Given the description of an element on the screen output the (x, y) to click on. 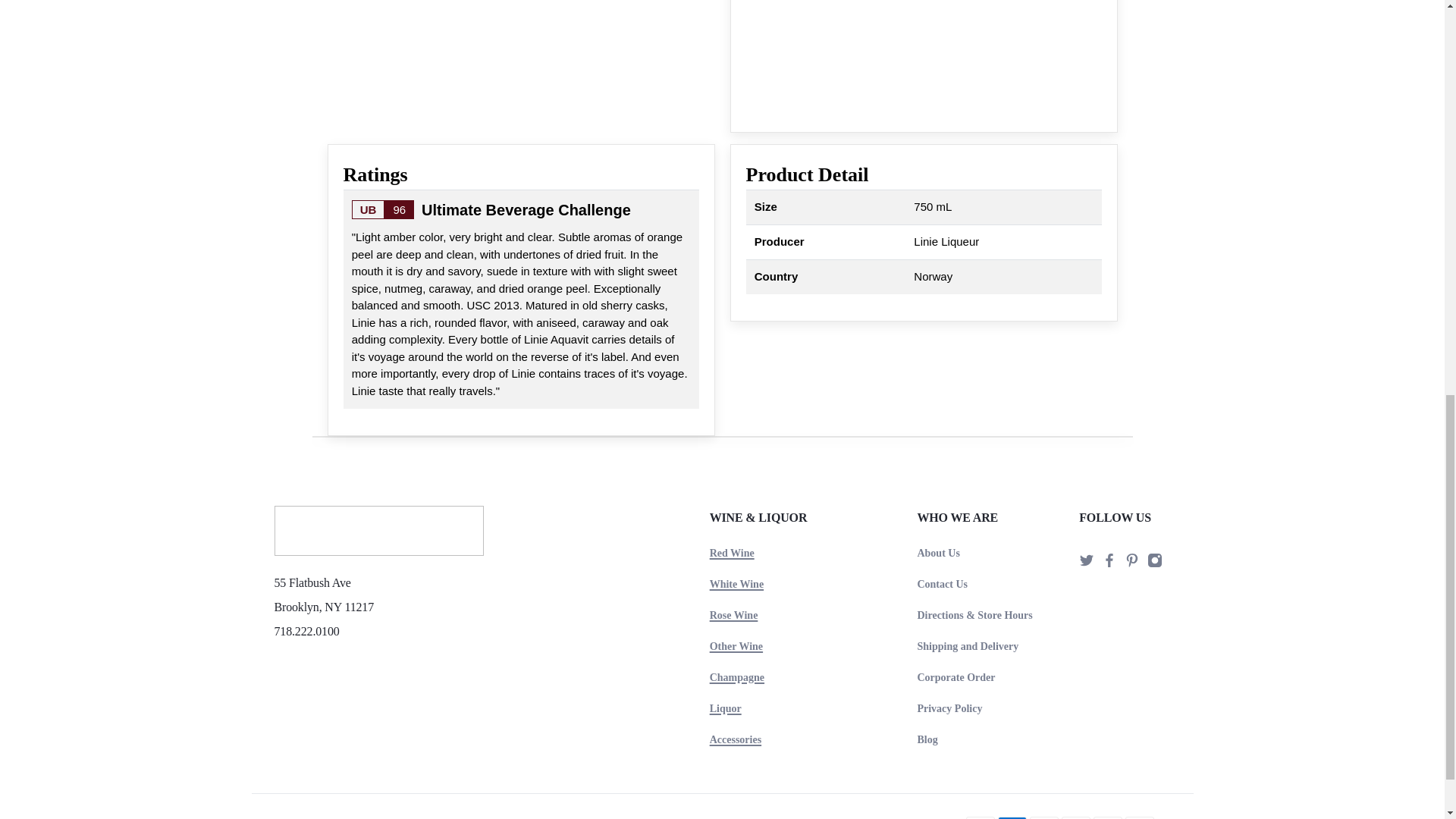
American Express (1011, 817)
TheLiquorStore.com (379, 537)
TheLiquorStore.com on Pinterest (1132, 563)
Diners Club (1043, 817)
Amazon (980, 817)
TheLiquorStore.com on Twitter (1086, 563)
TheLiquorStore.com on Instagram (1154, 563)
Visa (1139, 817)
Discover (1075, 817)
Mastercard (1107, 817)
TheLiquorStore.com on Facebook (1109, 563)
